Given the description of an element on the screen output the (x, y) to click on. 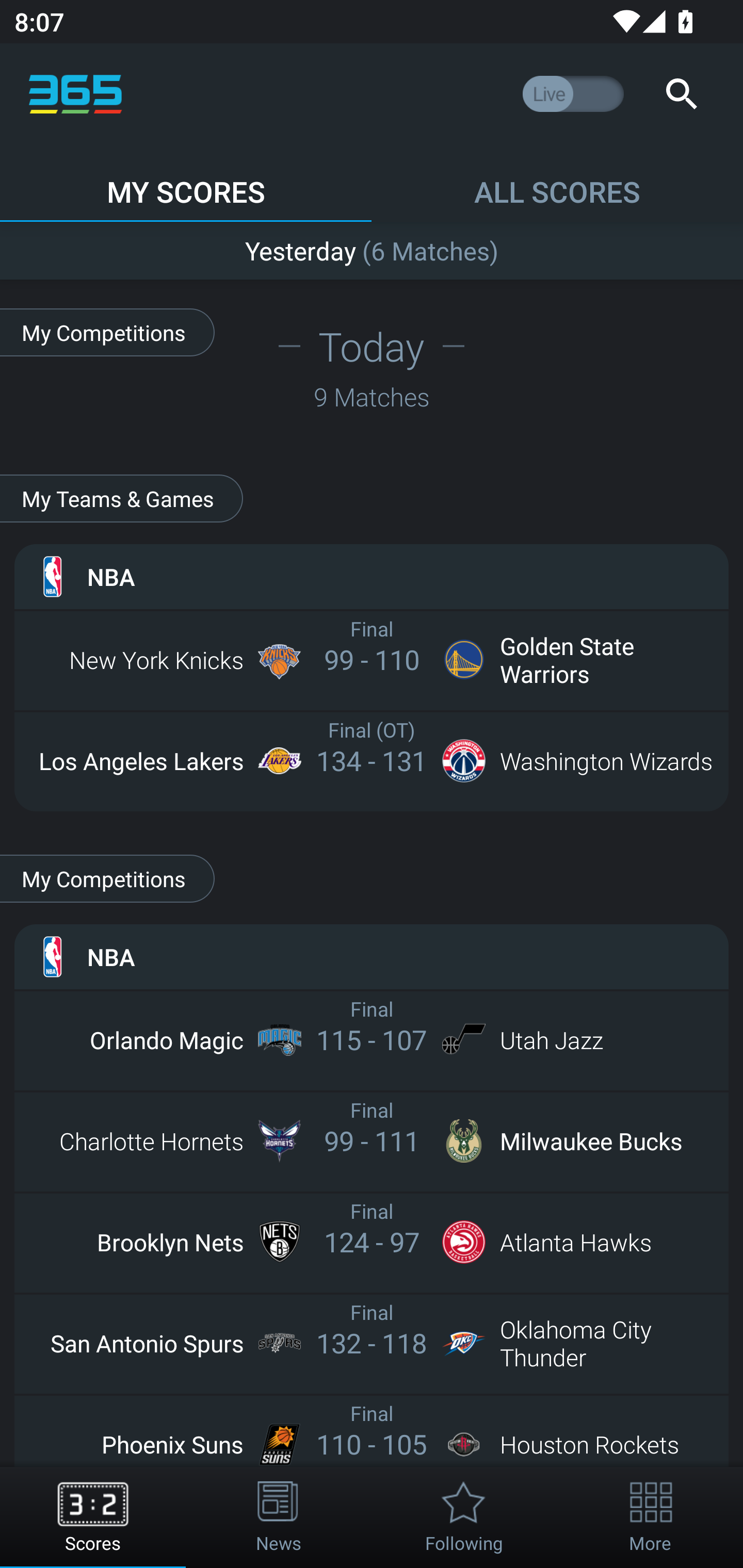
Search (681, 93)
MY SCORES (185, 182)
ALL SCORES (557, 182)
Denver Nuggets 117 - 96 Sacramento Kings (371, 246)
NBA (371, 576)
NBA (371, 956)
Orlando Magic Final 115 - 107 Utah Jazz (371, 1039)
Charlotte Hornets Final 99 - 111 Milwaukee Bucks (371, 1140)
Brooklyn Nets Final 124 - 97 Atlanta Hawks (371, 1241)
Phoenix Suns Final 110 - 105 Houston Rockets (371, 1443)
News (278, 1517)
Following (464, 1517)
More (650, 1517)
